Given the description of an element on the screen output the (x, y) to click on. 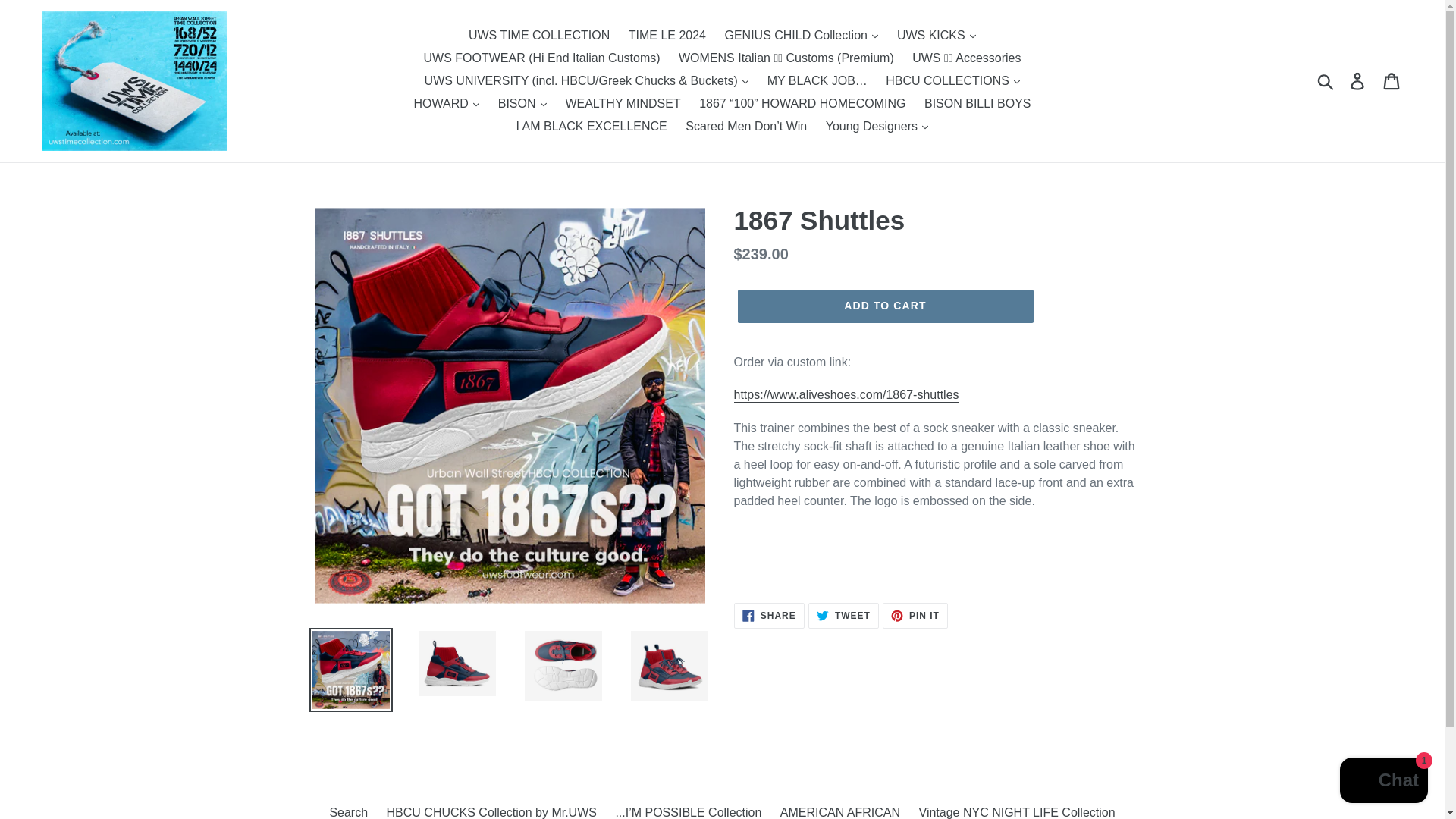
TIME LE 2024 (667, 35)
Shopify online store chat (1383, 781)
UWS TIME COLLECTION (539, 35)
